Given the description of an element on the screen output the (x, y) to click on. 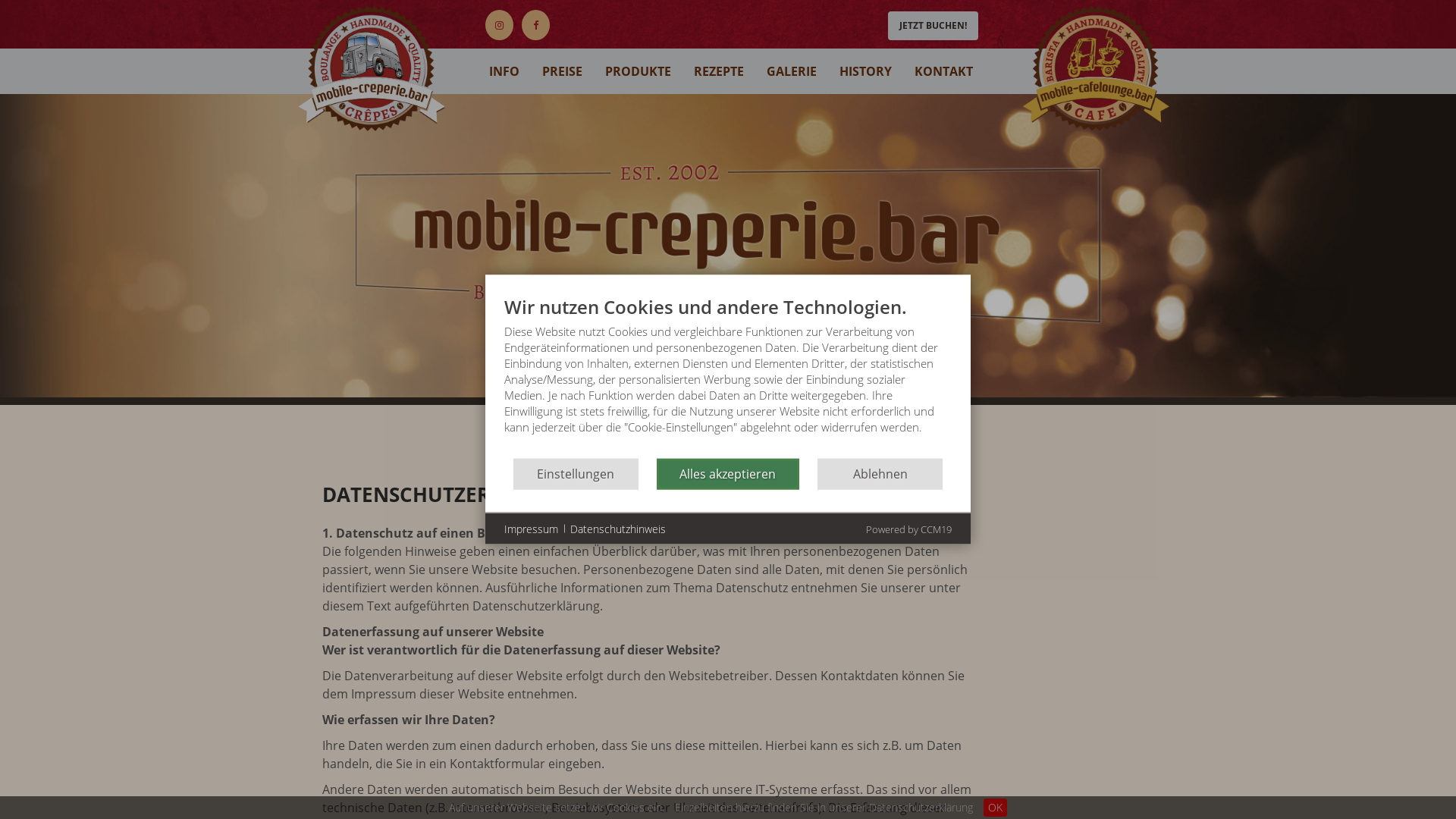
OK Element type: text (995, 807)
Datenschutzhinweis Element type: text (617, 528)
REZEPTE Element type: text (718, 71)
Einstellungen Element type: text (575, 473)
Powered by CCM19 Element type: text (908, 528)
PREISE Element type: text (561, 71)
Alles akzeptieren Element type: text (728, 473)
INFO Element type: text (503, 71)
JETZT BUCHEN! Element type: text (933, 25)
Impressum Element type: text (531, 528)
KONTAKT Element type: text (943, 71)
PRODUKTE Element type: text (637, 71)
Ablehnen Element type: text (879, 473)
GALERIE Element type: text (791, 71)
HISTORY Element type: text (865, 71)
